Given the description of an element on the screen output the (x, y) to click on. 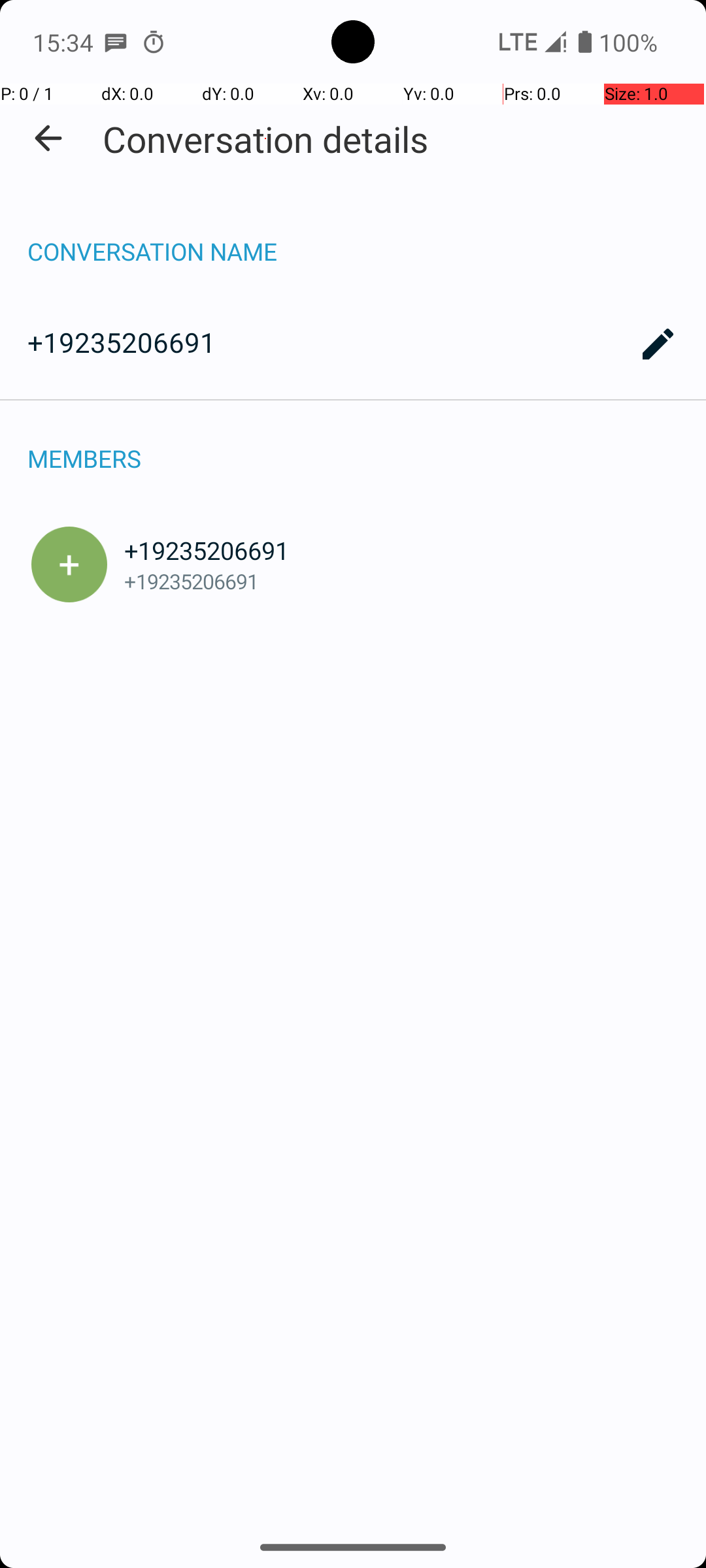
Conversation details Element type: android.widget.TextView (265, 138)
CONVERSATION NAME Element type: android.widget.TextView (352, 237)
+19235206691 Element type: android.widget.TextView (353, 343)
MEMBERS Element type: android.widget.TextView (352, 444)
SMS Messenger notification: +15785288010 Element type: android.widget.ImageView (115, 41)
